Given the description of an element on the screen output the (x, y) to click on. 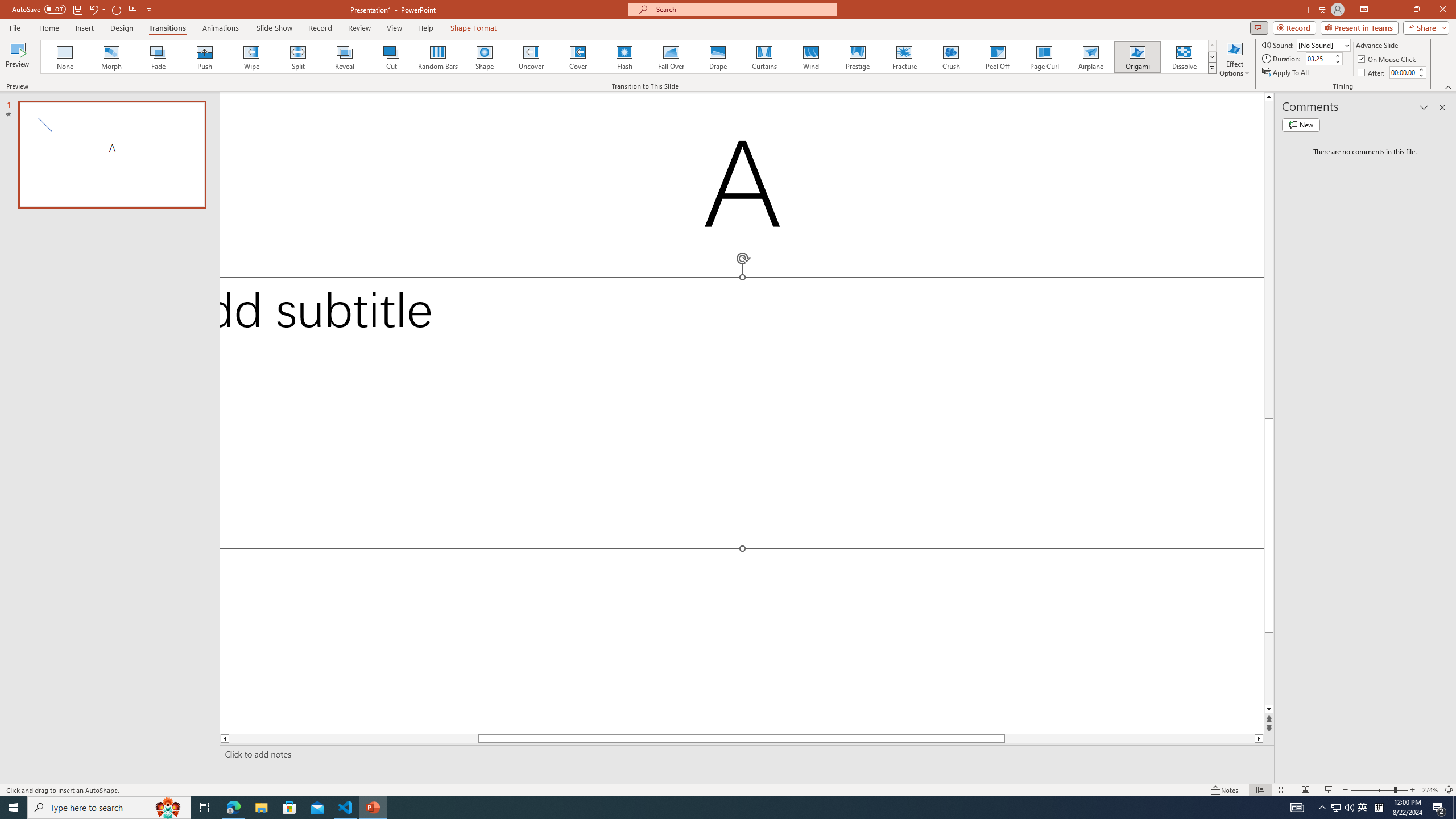
Shape (484, 56)
